Given the description of an element on the screen output the (x, y) to click on. 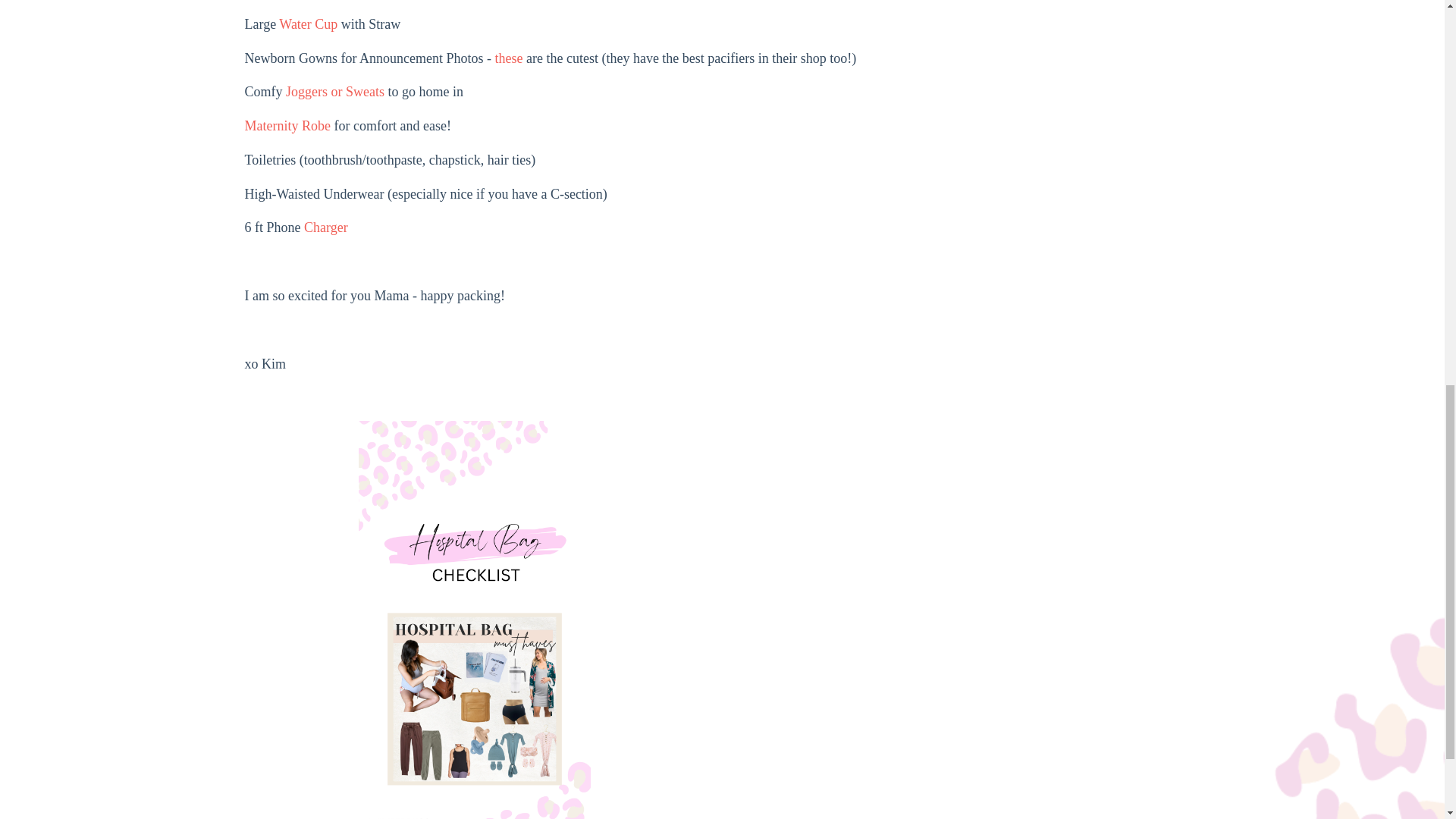
Charger (325, 227)
Joggers or Sweats (334, 91)
Water Cup (308, 23)
Maternity Robe (287, 125)
these (508, 57)
